Given the description of an element on the screen output the (x, y) to click on. 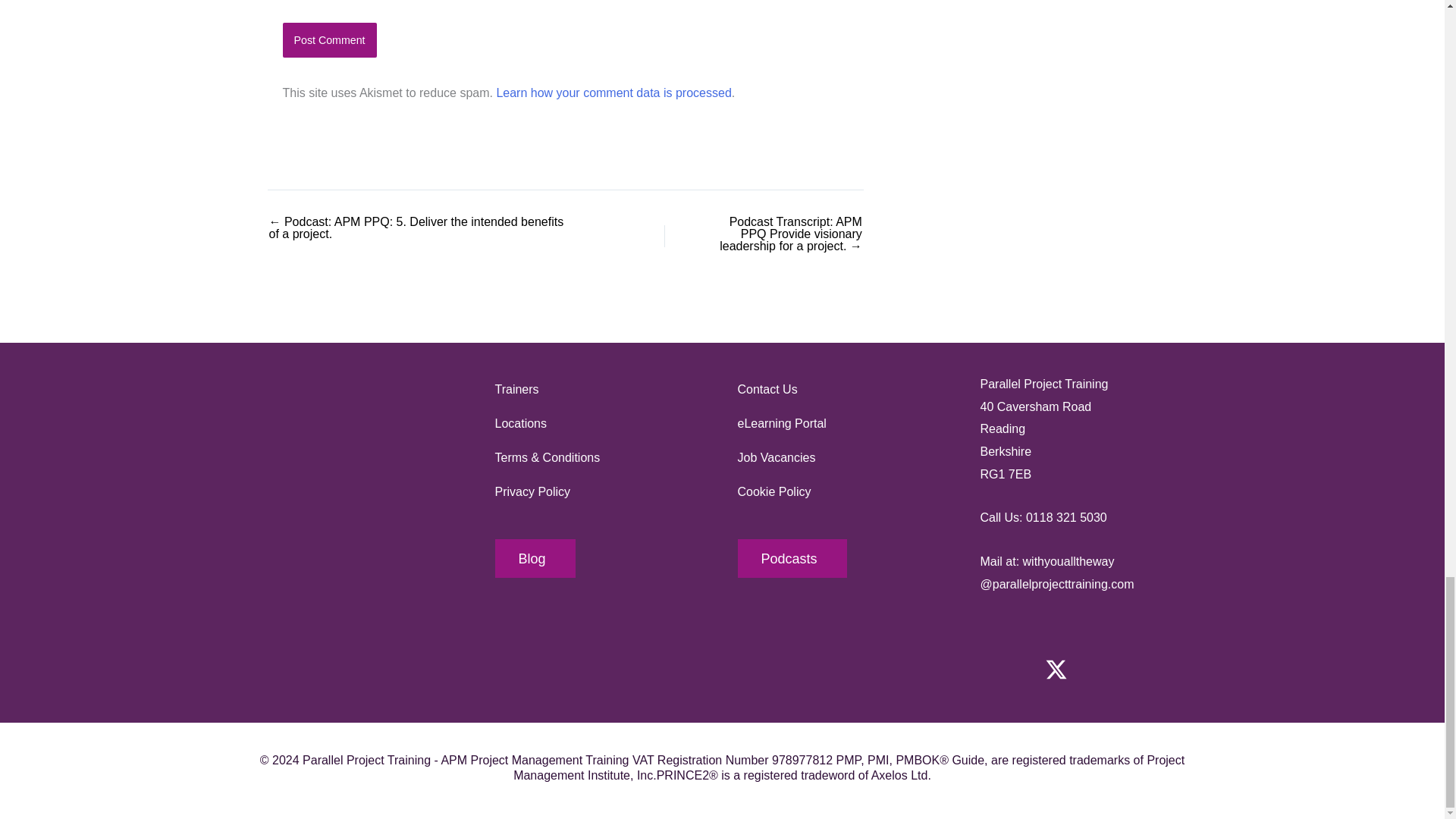
white-geese-logo-min (357, 448)
LinkedIn (1161, 669)
YouTube (1108, 669)
Post Comment (328, 39)
Facebook (1002, 669)
